Given the description of an element on the screen output the (x, y) to click on. 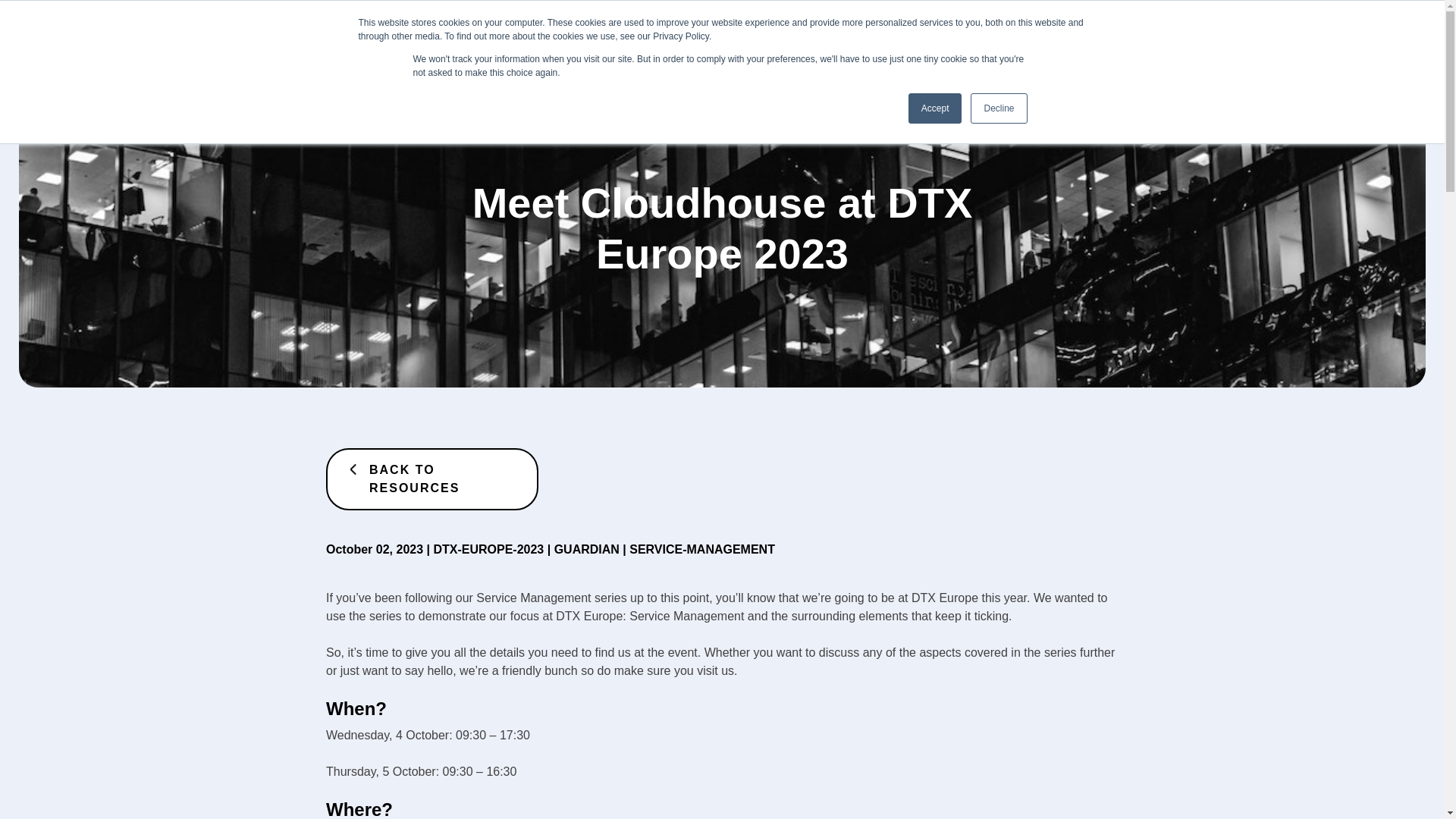
Resources (900, 29)
News (828, 29)
Decline (998, 108)
Products (675, 29)
Solutions (759, 29)
Accept (935, 108)
